Given the description of an element on the screen output the (x, y) to click on. 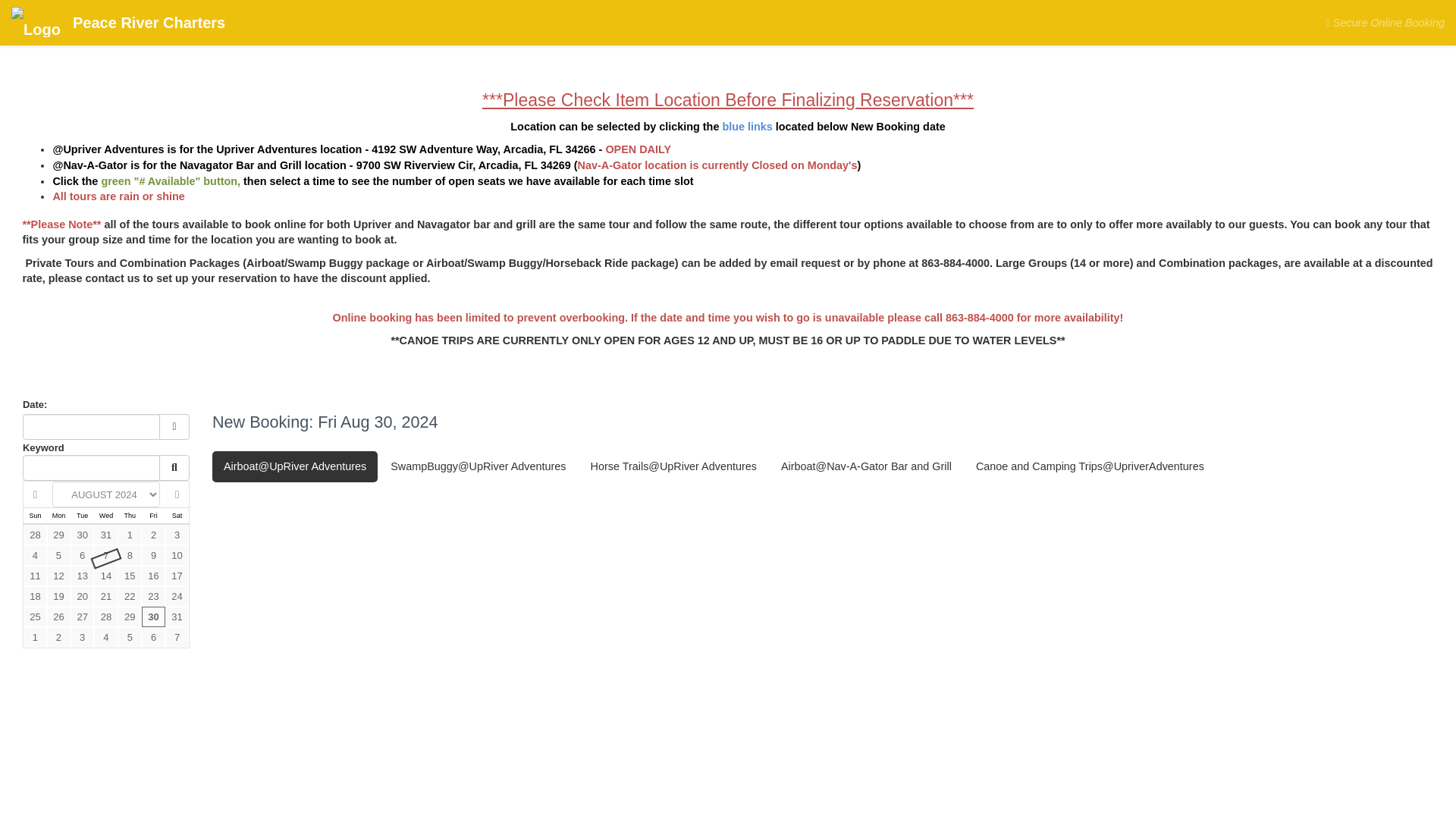
11 (34, 575)
21 (105, 596)
19 (57, 596)
29 (57, 534)
10 (177, 555)
26 (57, 616)
17 (177, 575)
16 (153, 575)
2 (153, 534)
6 (81, 555)
